Given the description of an element on the screen output the (x, y) to click on. 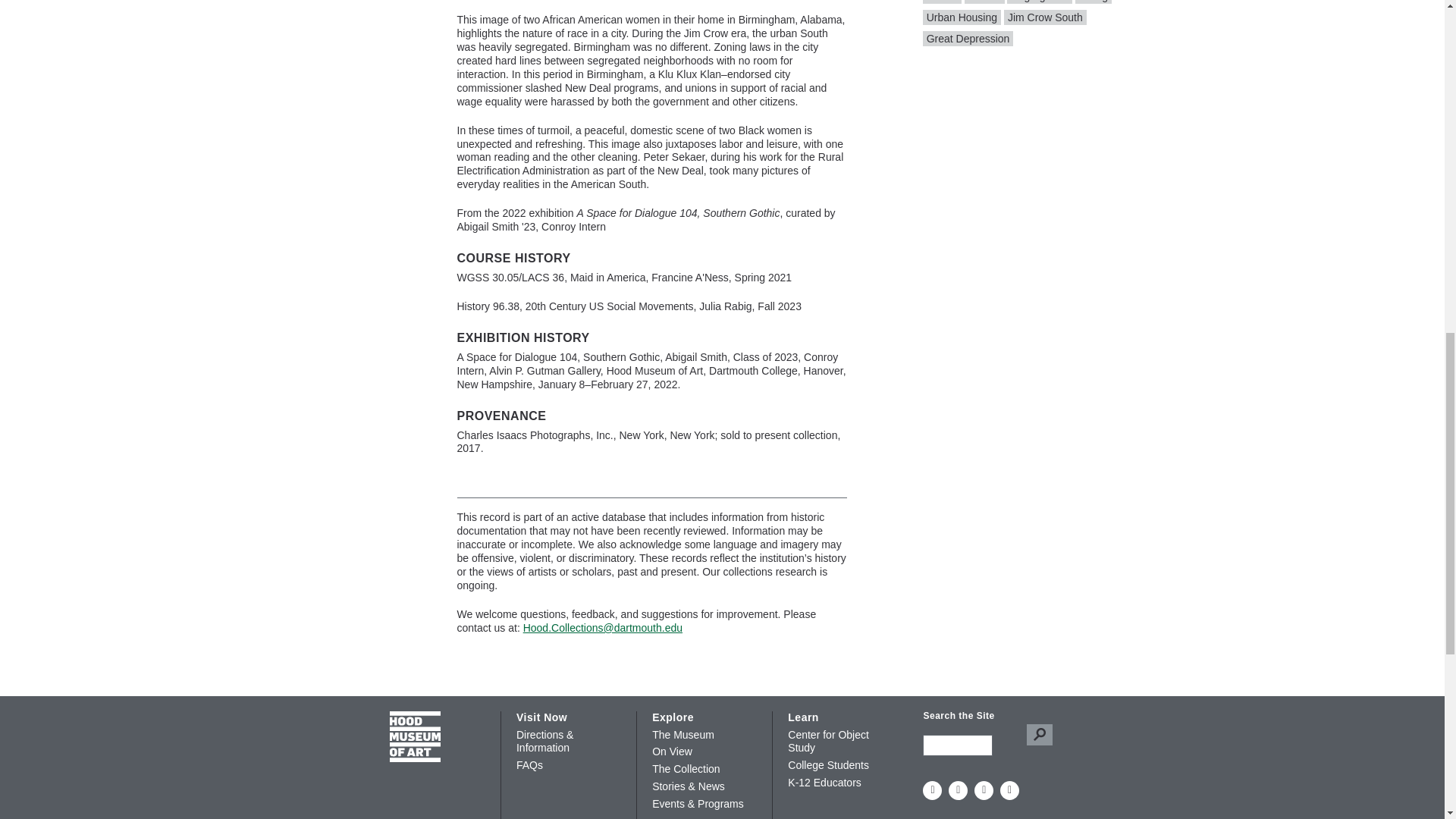
Search this site (957, 744)
